Given the description of an element on the screen output the (x, y) to click on. 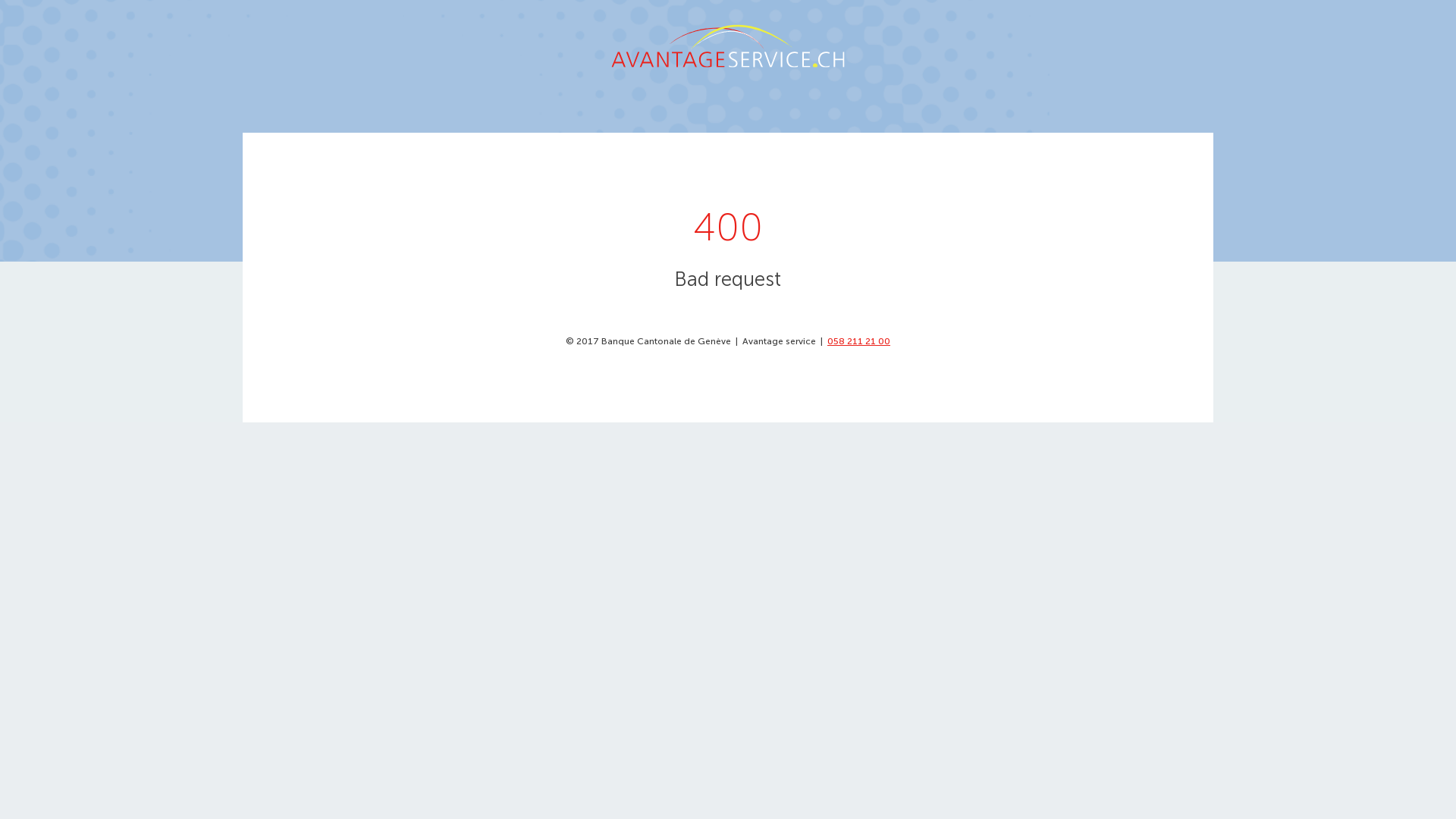
058 211 21 00 Element type: text (858, 340)
